Given the description of an element on the screen output the (x, y) to click on. 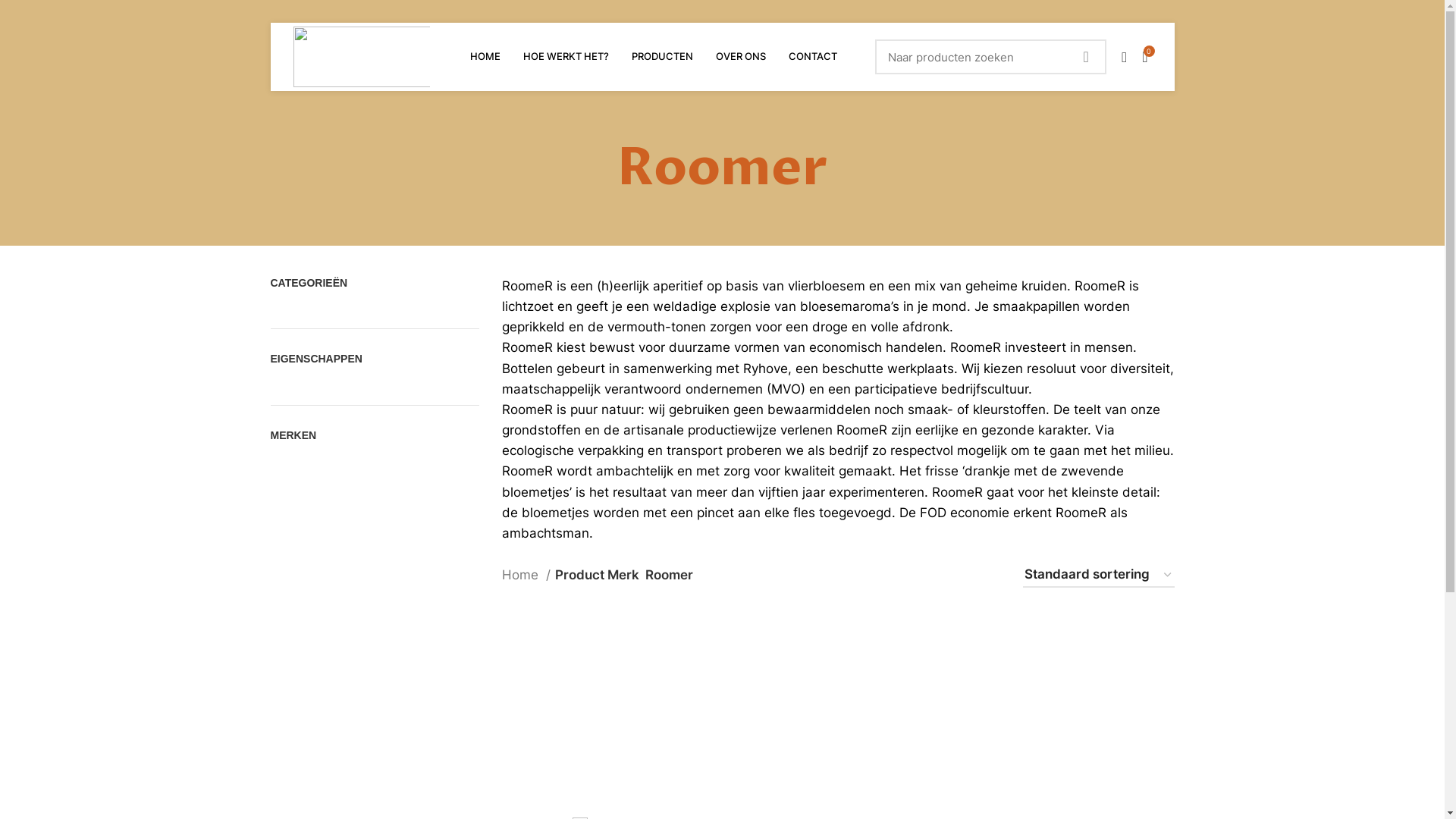
HOME Element type: text (484, 56)
Naar producten zoeken Element type: hover (990, 56)
Mijn account Element type: hover (1123, 56)
Home Element type: text (526, 574)
ZOEKEN Element type: text (1085, 56)
HOE WERKT HET? Element type: text (565, 56)
CONTACT Element type: text (812, 56)
OVER ONS Element type: text (740, 56)
PRODUCTEN Element type: text (662, 56)
0 Element type: text (1144, 56)
